Given the description of an element on the screen output the (x, y) to click on. 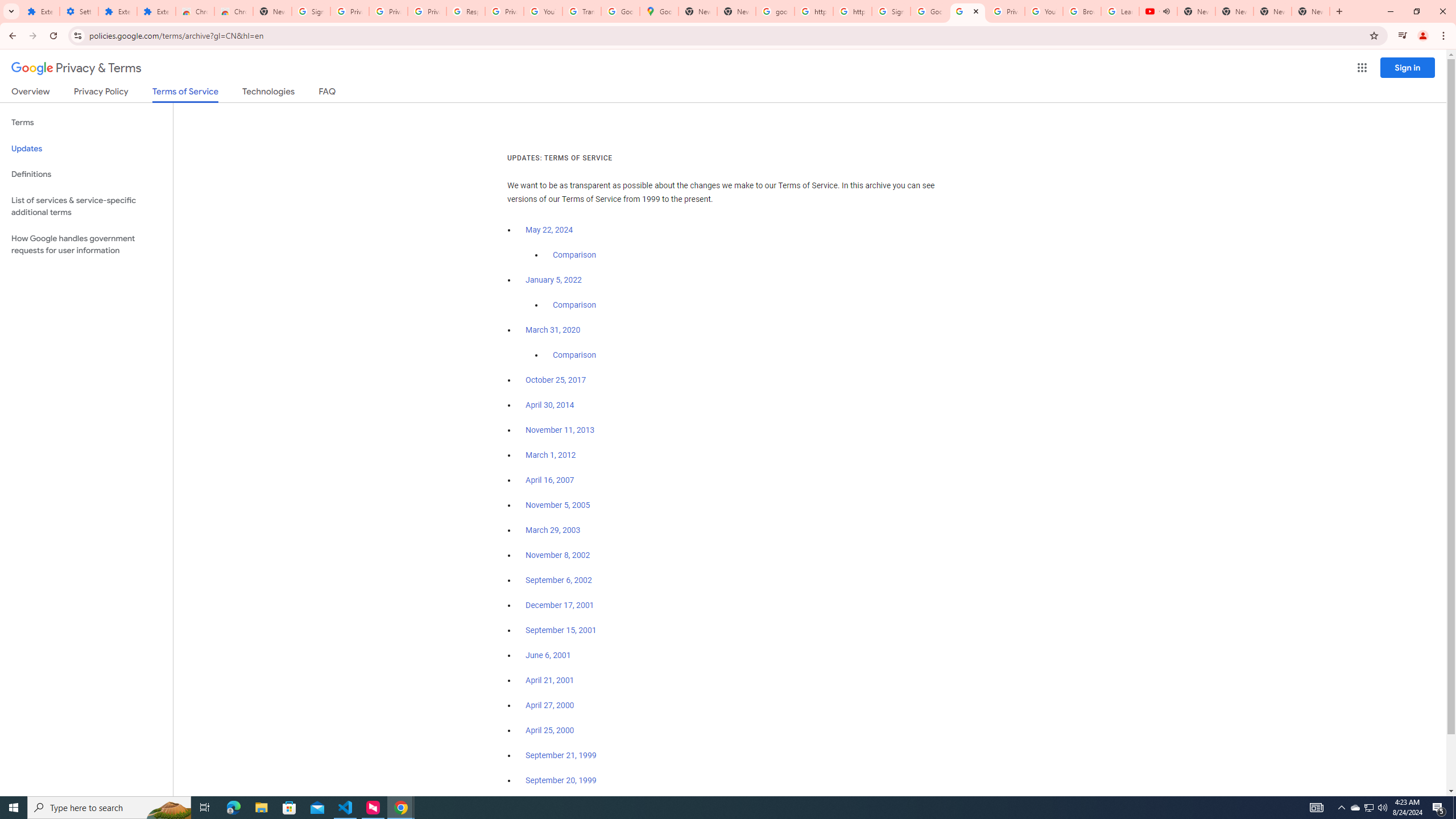
Mute tab (1165, 10)
YouTube (1043, 11)
Sign in - Google Accounts (310, 11)
Extensions (40, 11)
Privacy & Terms (76, 68)
April 30, 2014 (550, 405)
